Given the description of an element on the screen output the (x, y) to click on. 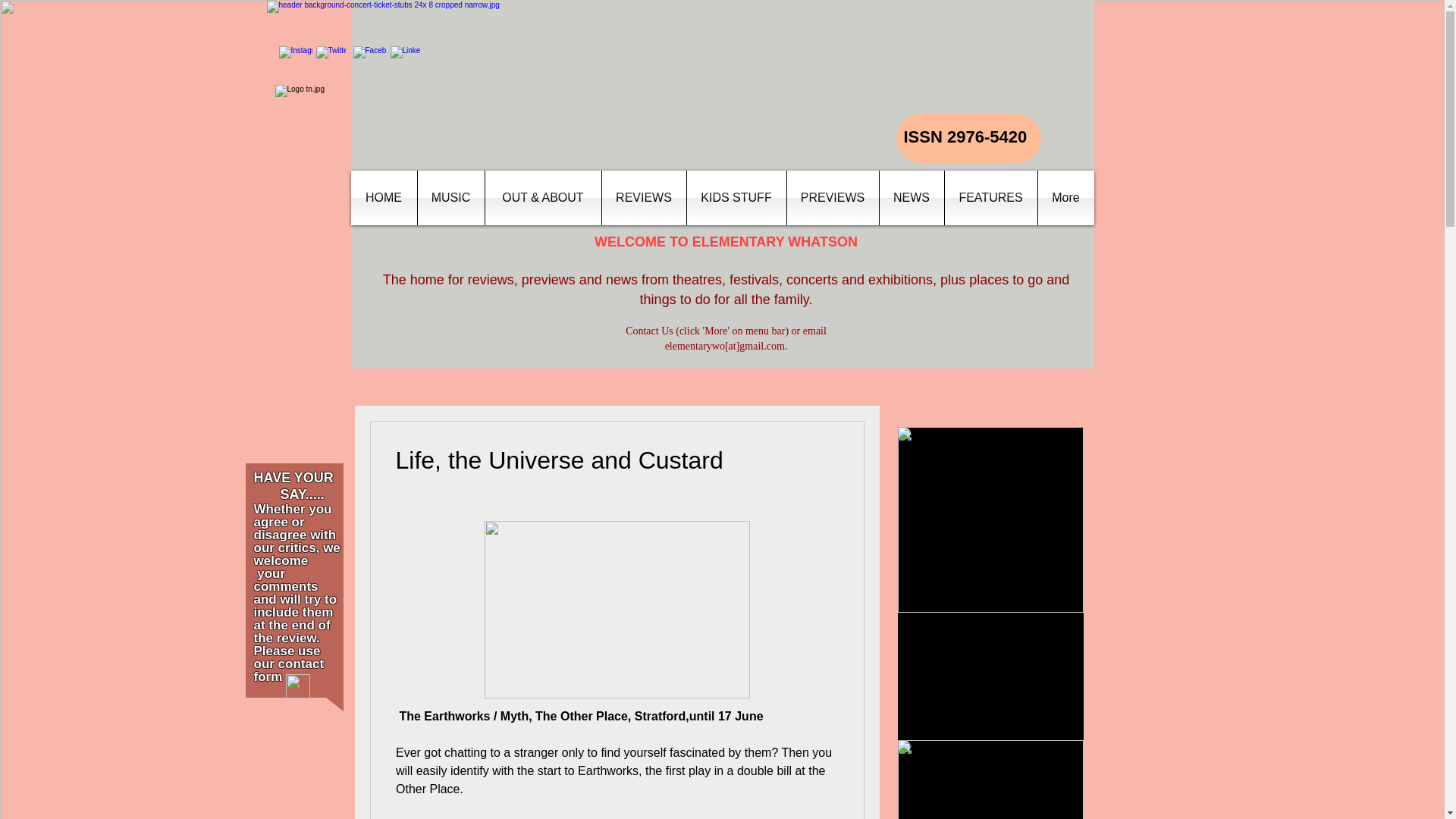
HOME (383, 197)
PREVIEWS (833, 197)
REVIEWS (643, 197)
KIDS STUFF (736, 197)
What will survive of us is Love (990, 640)
FEATURES (990, 197)
NEWS (911, 197)
MUSIC (449, 197)
